Given the description of an element on the screen output the (x, y) to click on. 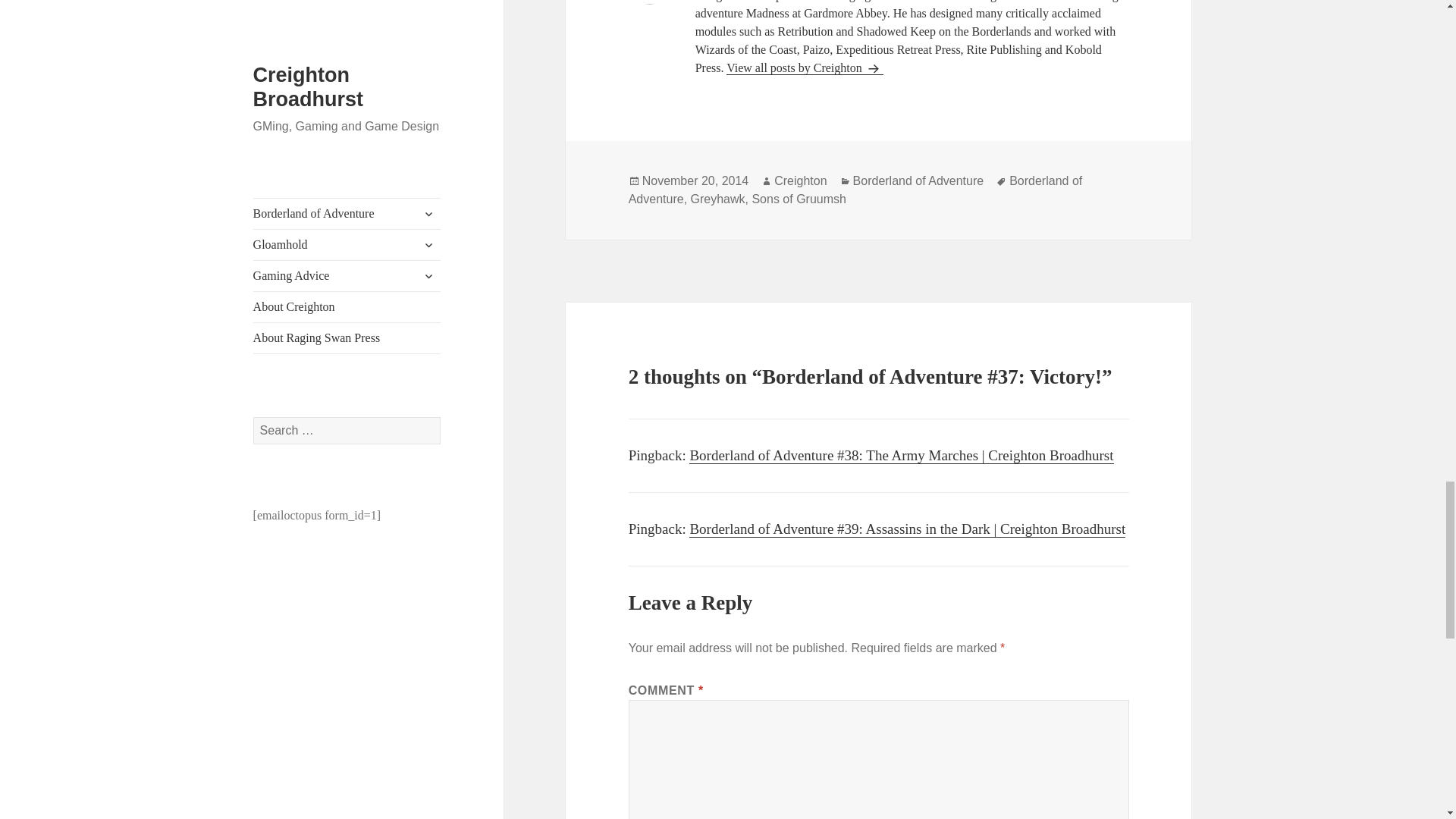
View all posts by Creighton (804, 68)
Greyhawk (717, 199)
Borderland of Adventure (855, 190)
Creighton (800, 181)
Borderland of Adventure (918, 181)
November 20, 2014 (695, 181)
Sons of Gruumsh (798, 199)
